Given the description of an element on the screen output the (x, y) to click on. 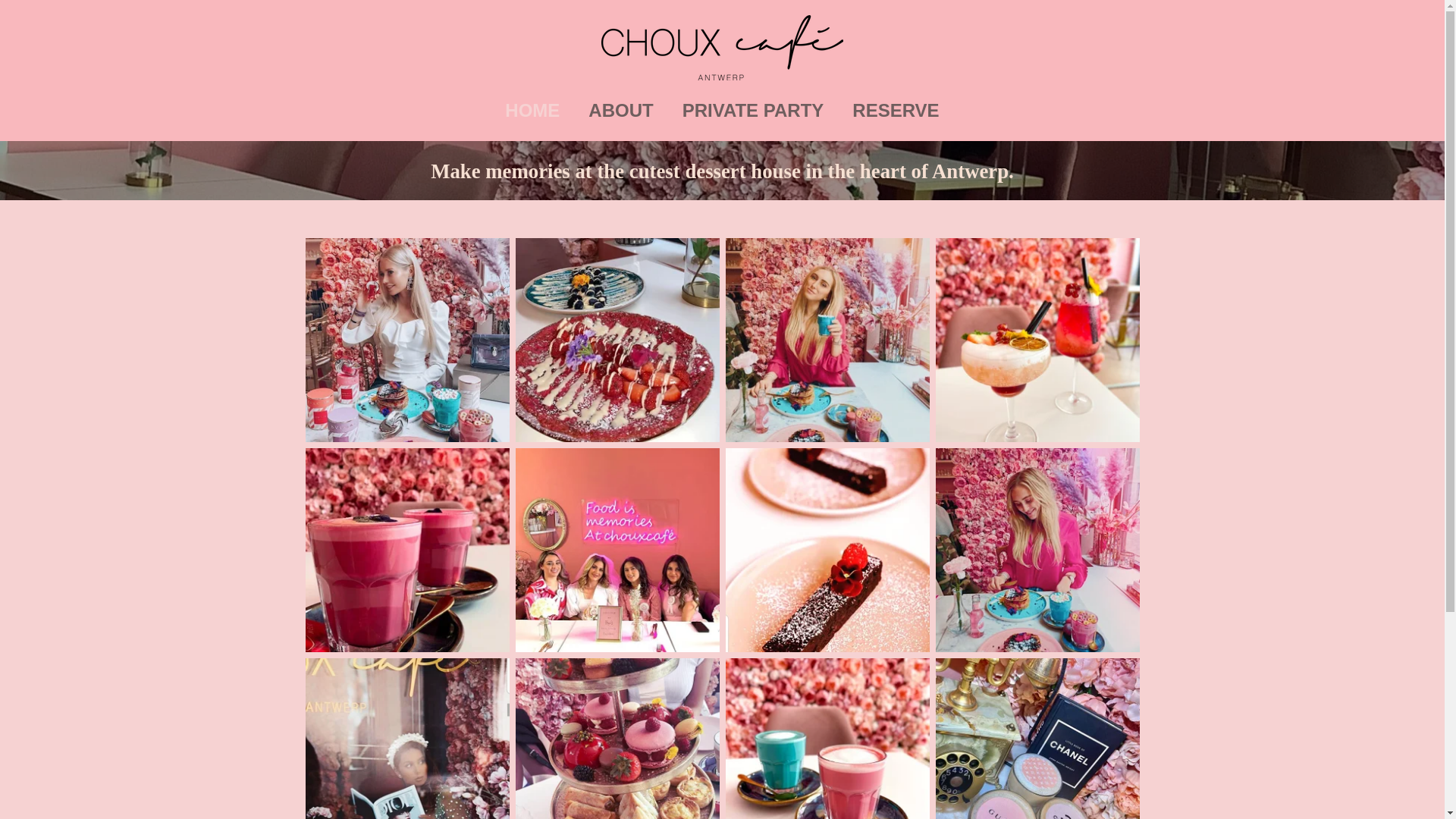
PRIVATE PARTY Element type: text (753, 110)
HOME Element type: text (532, 110)
www.chouxcafe.be Element type: hover (722, 47)
ABOUT Element type: text (620, 110)
RESERVE Element type: text (895, 110)
